Given the description of an element on the screen output the (x, y) to click on. 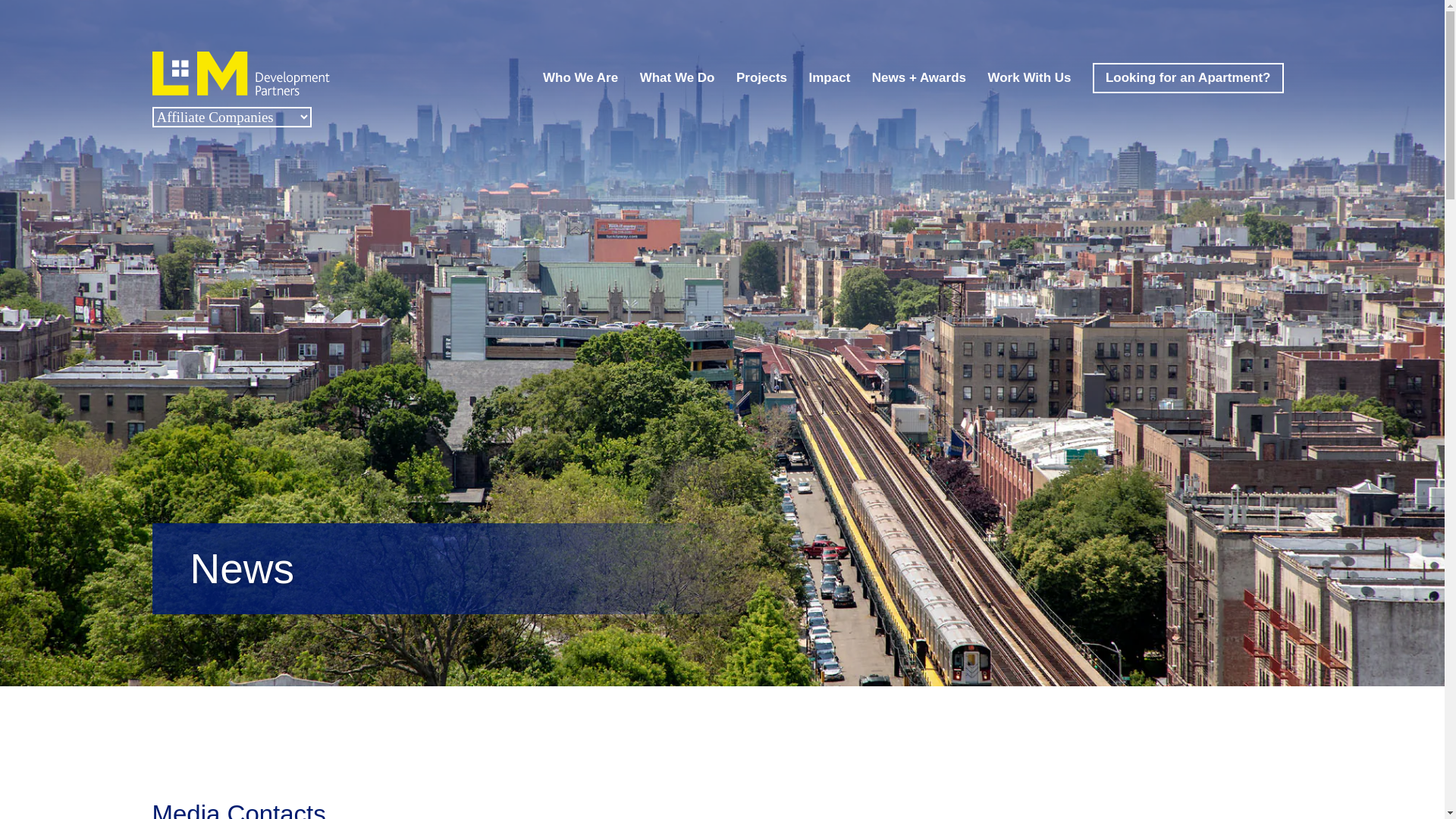
Who We Are (580, 79)
Projects (761, 79)
Work With Us (1028, 79)
What We Do (677, 79)
Looking for an Apartment? (1188, 79)
Impact (829, 79)
